Given the description of an element on the screen output the (x, y) to click on. 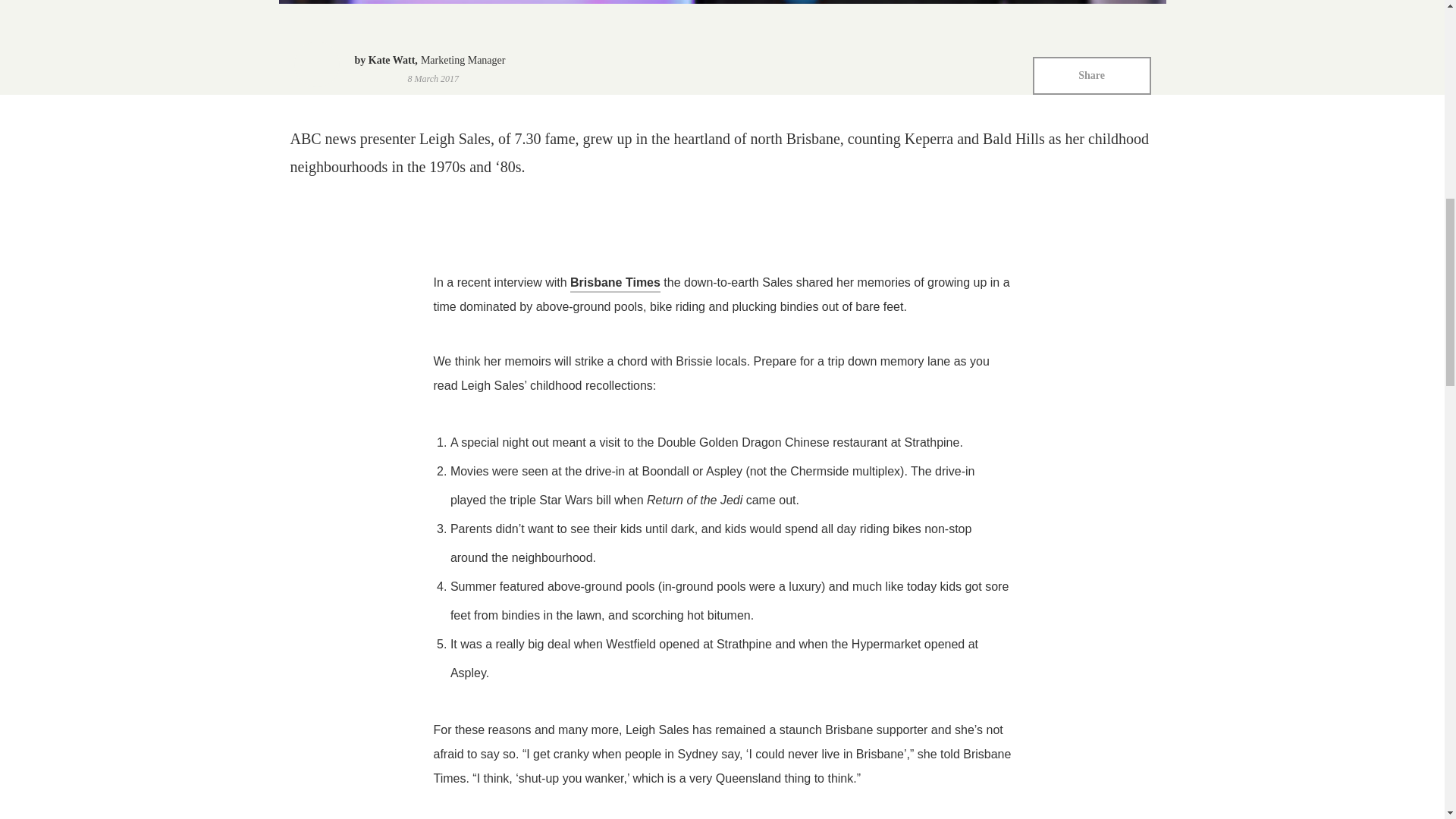
Brisbane Times (615, 284)
